Given the description of an element on the screen output the (x, y) to click on. 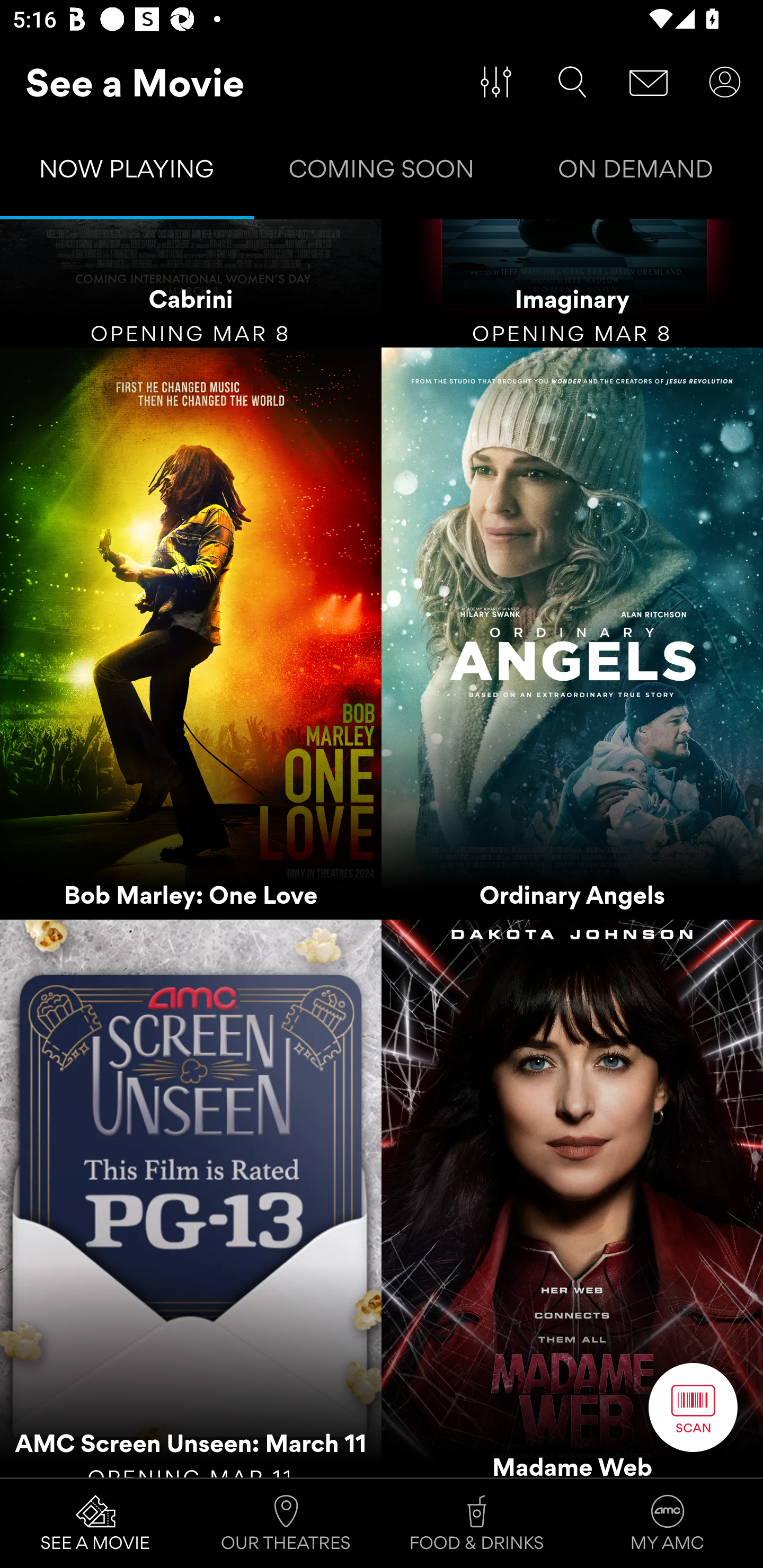
Filter Movies (495, 82)
Search (572, 82)
Message Center (648, 82)
User Account (724, 82)
NOW PLAYING
Tab 1 of 3 (127, 173)
COMING SOON
Tab 2 of 3 (381, 173)
ON DEMAND
Tab 3 of 3 (635, 173)
Cabrini
OPENING MAR 8 (190, 283)
Imaginary
OPENING MAR 8 (572, 283)
Bob Marley: One Love (190, 633)
Ordinary Angels (572, 633)
AMC Screen Unseen: March 11
OPENING MAR 11 (190, 1197)
Madame Web (572, 1197)
Scan Button (692, 1406)
SEE A MOVIE
Tab 1 of 4 (95, 1523)
OUR THEATRES
Tab 2 of 4 (285, 1523)
FOOD & DRINKS
Tab 3 of 4 (476, 1523)
MY AMC
Tab 4 of 4 (667, 1523)
